Given the description of an element on the screen output the (x, y) to click on. 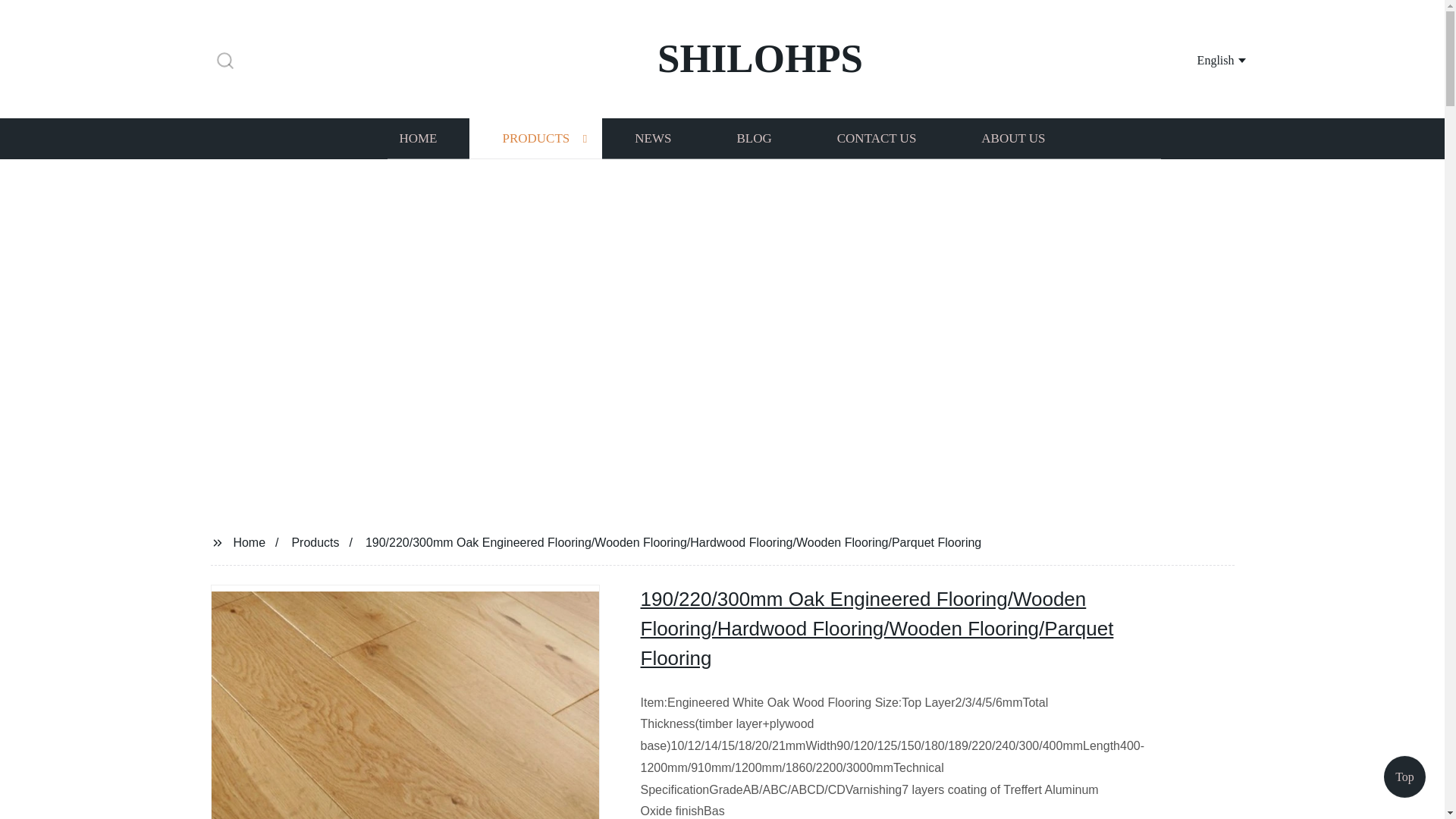
English (1203, 59)
HOME (417, 137)
English (1203, 59)
PRODUCTS (535, 137)
Home (248, 541)
Top (1404, 779)
Products (315, 541)
ABOUT US (1013, 137)
NEWS (652, 137)
BLOG (753, 137)
CONTACT US (877, 137)
